Given the description of an element on the screen output the (x, y) to click on. 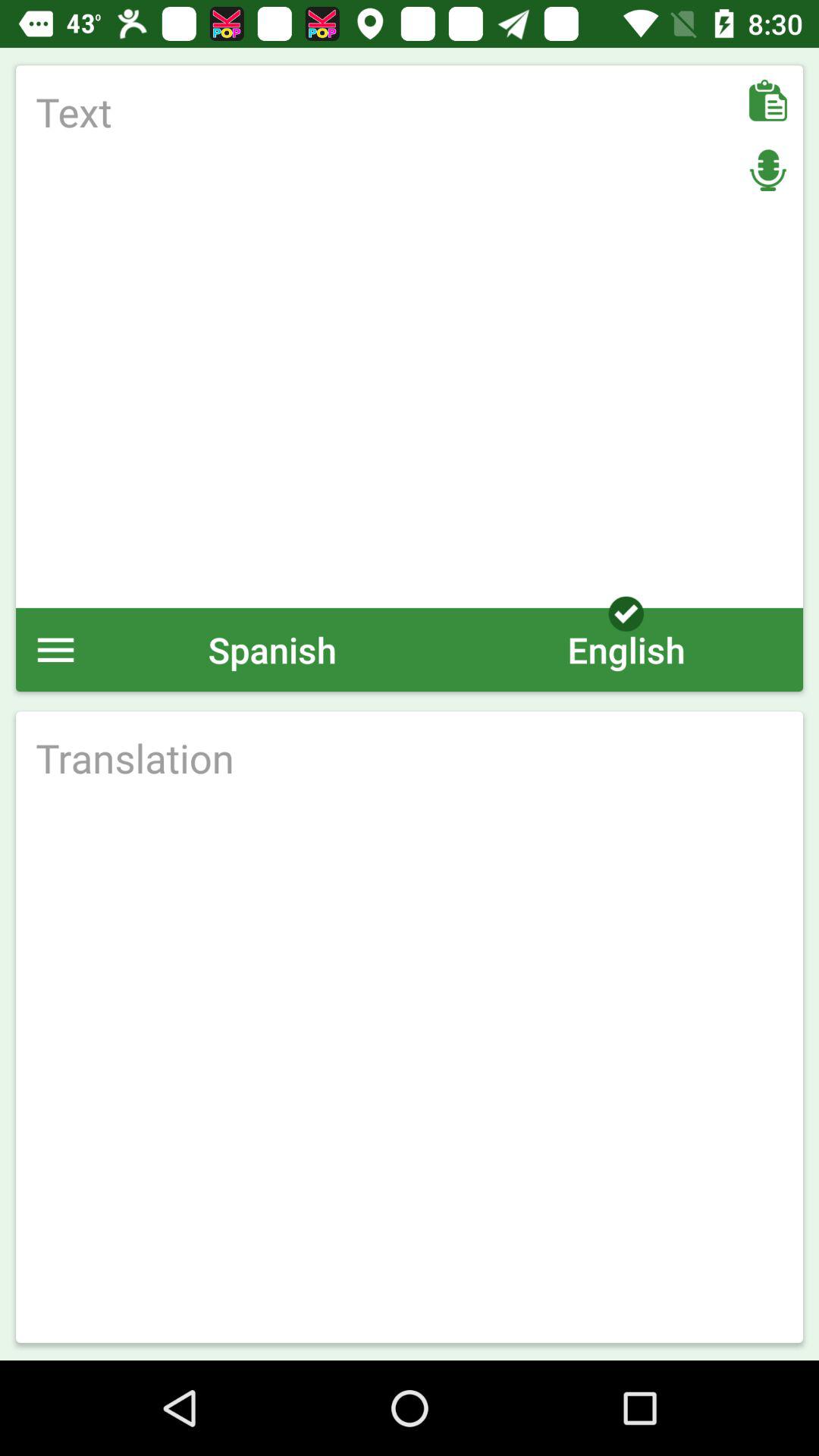
microphone (768, 170)
